Given the description of an element on the screen output the (x, y) to click on. 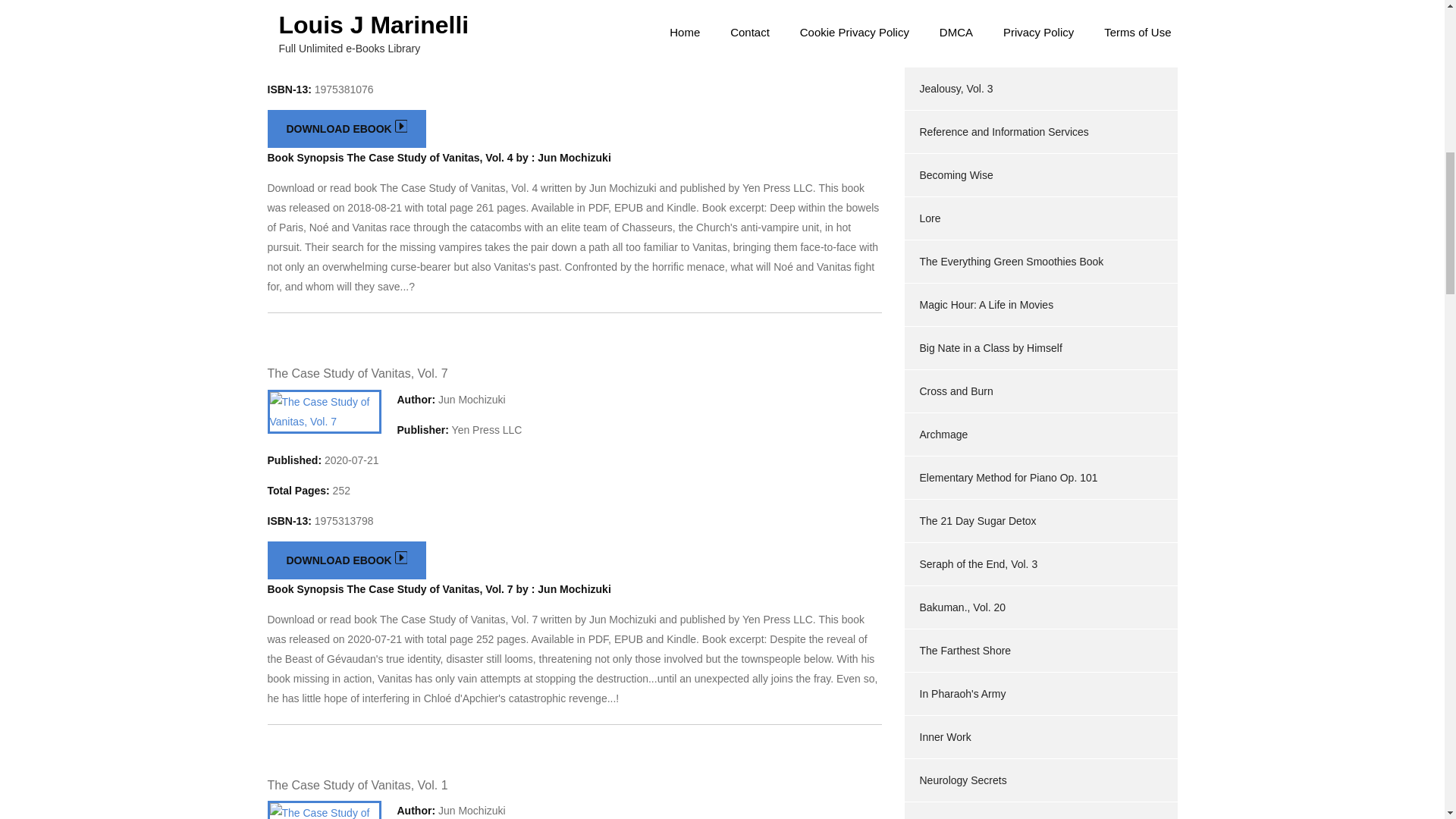
The Case Study of Vanitas, Vol. 1 (356, 784)
DOWNLOAD EBOOK (346, 128)
DOWNLOAD EBOOK (346, 560)
The Case Study of Vanitas, Vol. 7 (356, 373)
